Given the description of an element on the screen output the (x, y) to click on. 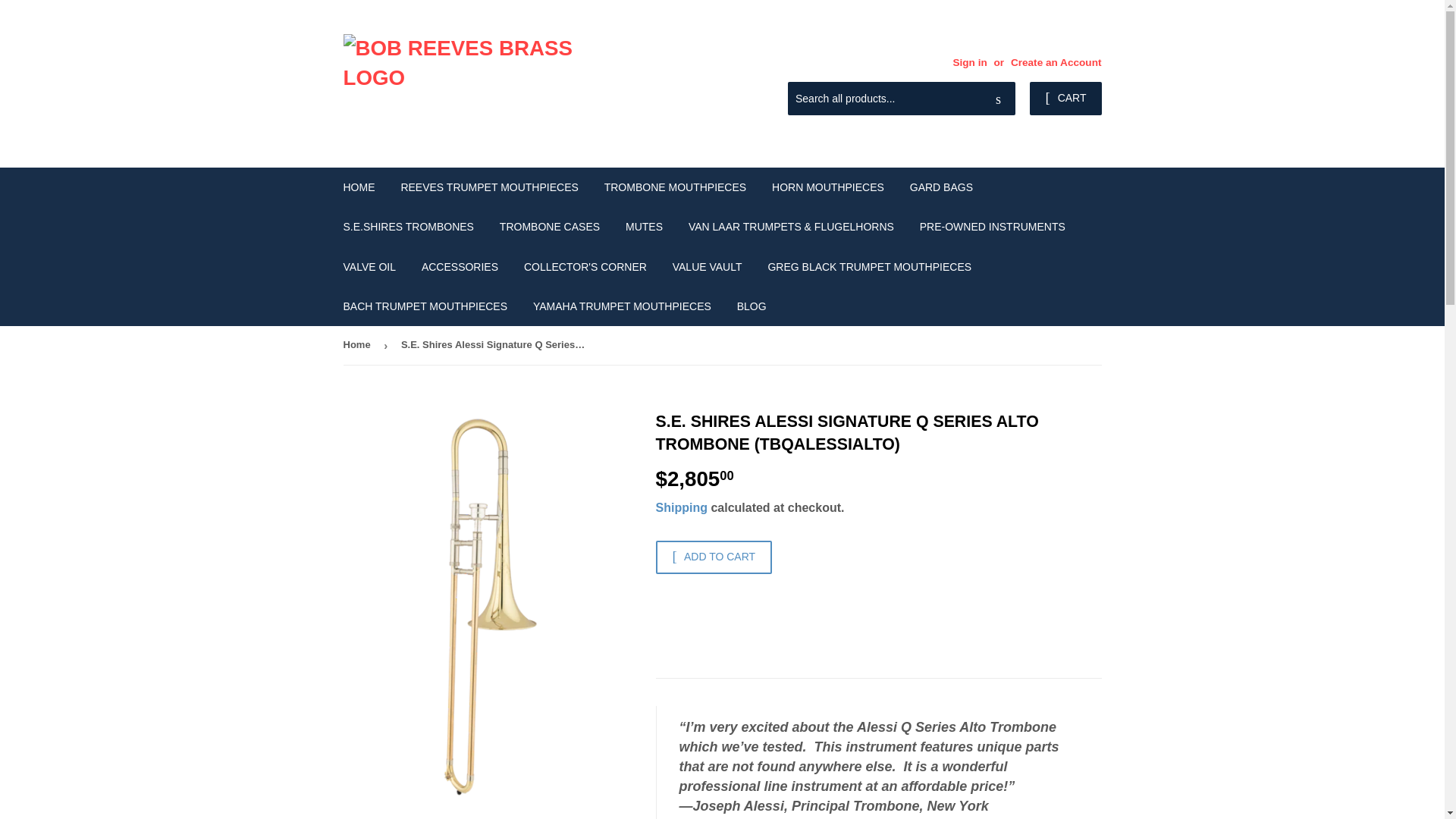
HORN MOUTHPIECES (827, 187)
ACCESSORIES (459, 266)
PRE-OWNED INSTRUMENTS (992, 226)
Sign in (969, 61)
MUTES (644, 226)
VALVE OIL (369, 266)
GARD BAGS (941, 187)
Create an Account (1056, 61)
Search (997, 99)
S.E.SHIRES TROMBONES (407, 226)
